Given the description of an element on the screen output the (x, y) to click on. 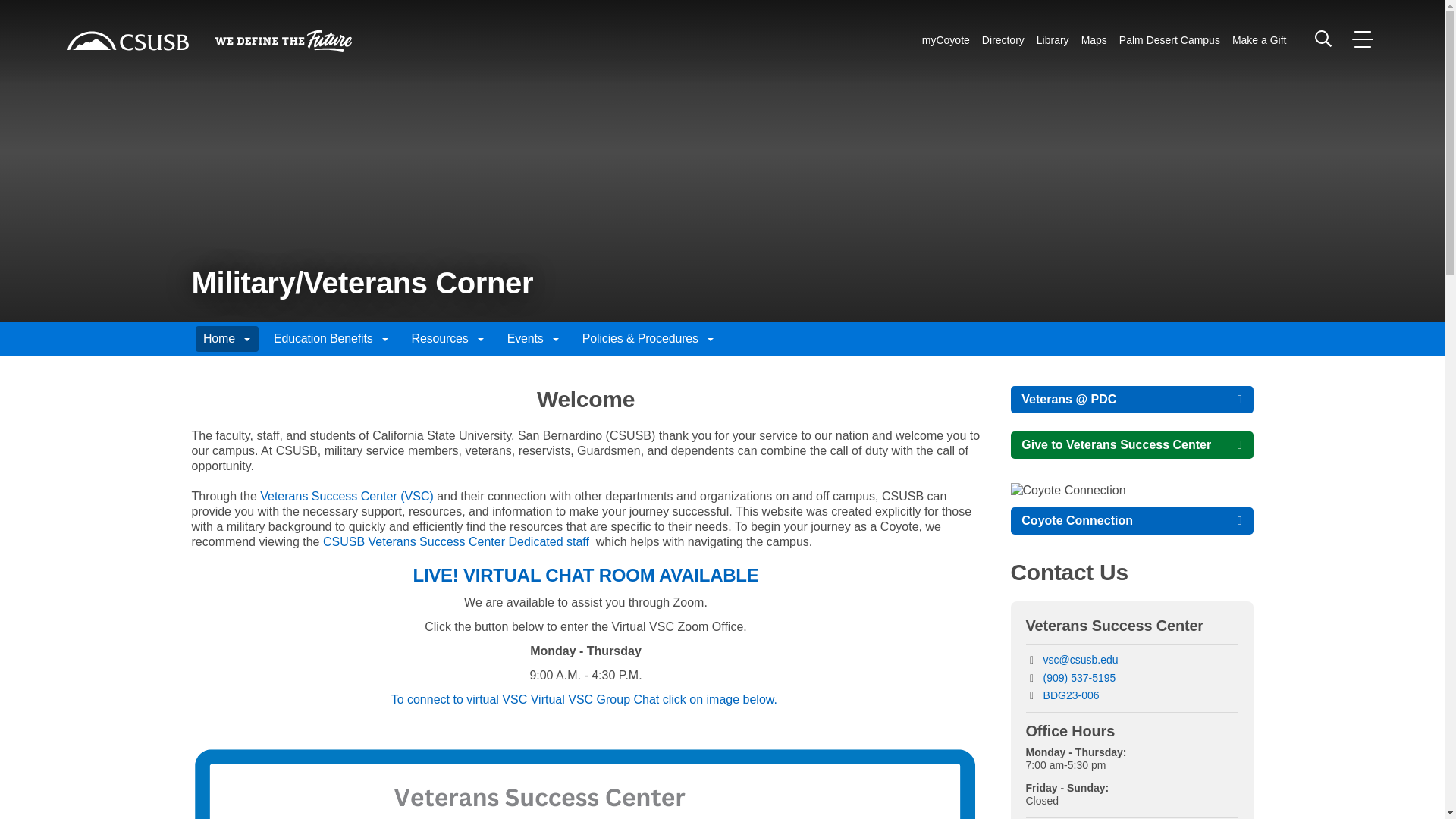
Search CSUSB (1323, 38)
Home (126, 40)
